Given the description of an element on the screen output the (x, y) to click on. 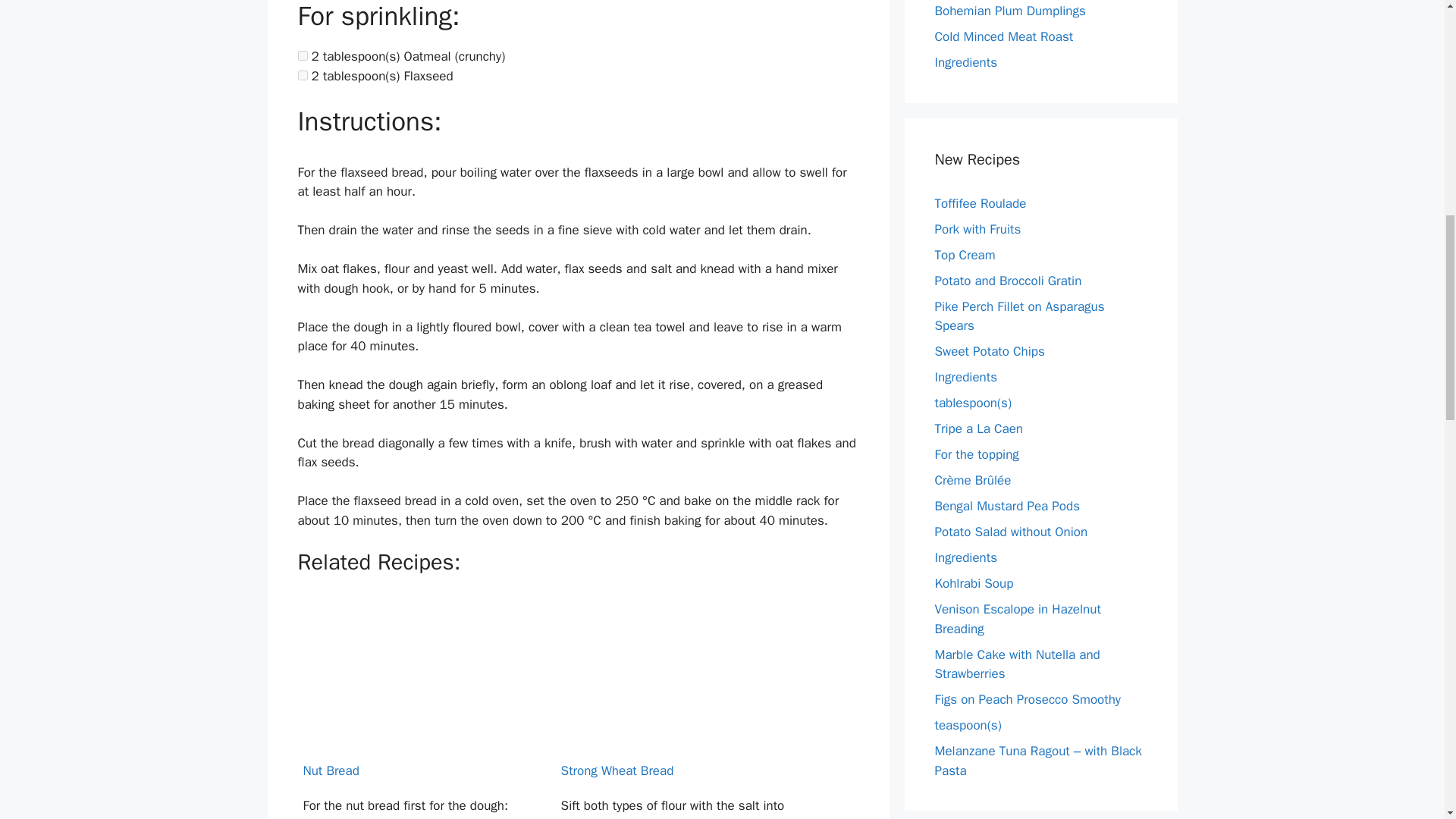
Strong Wheat Bread (673, 707)
Ingredients (965, 62)
Cold Minced Meat Roast (1003, 36)
Nut Bread (414, 707)
Bohemian Plum Dumplings (1009, 10)
Toffifee Roulade (980, 203)
